Given the description of an element on the screen output the (x, y) to click on. 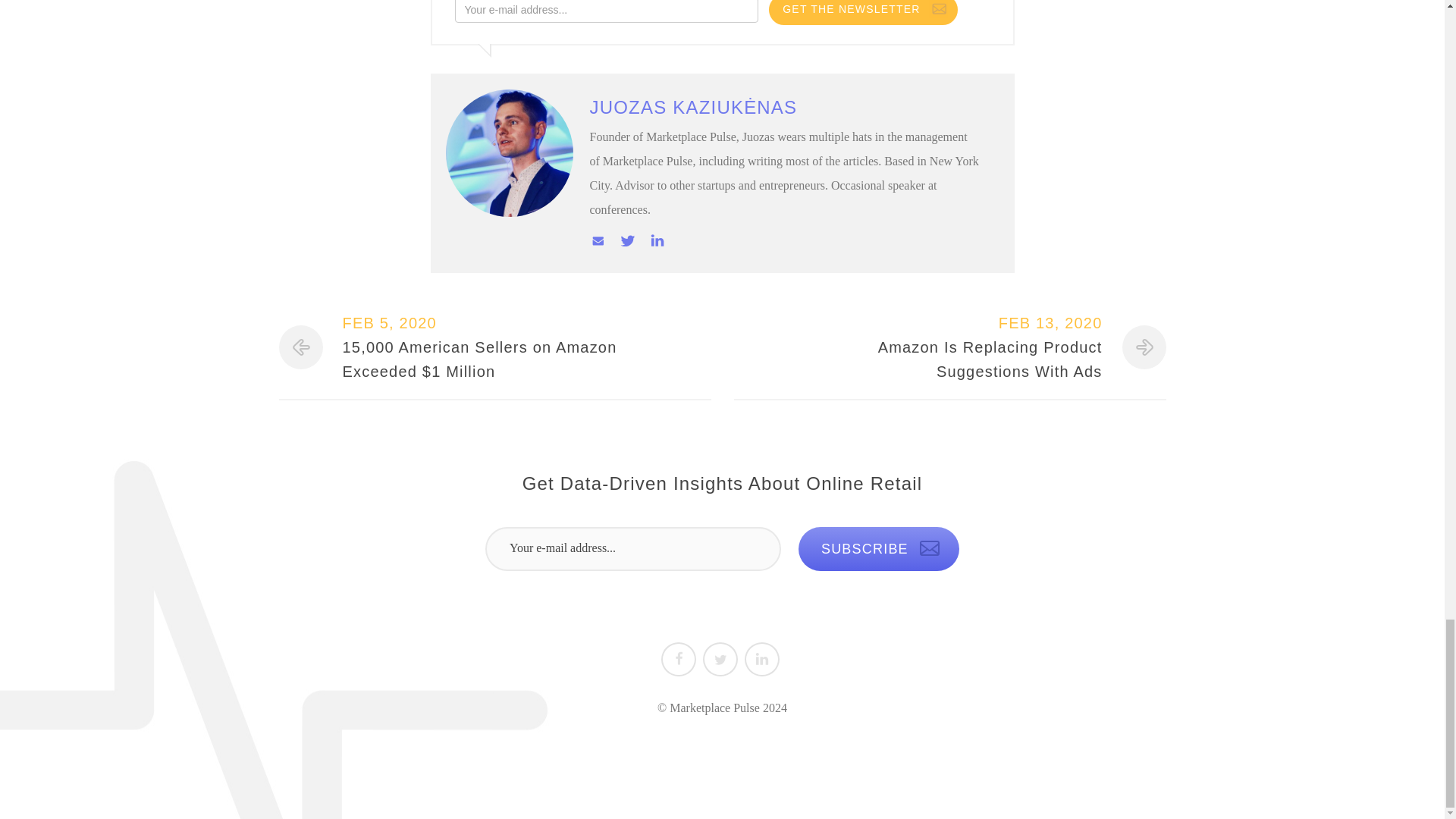
GET THE NEWSLETTER (862, 12)
SUBSCRIBE (878, 548)
